Given the description of an element on the screen output the (x, y) to click on. 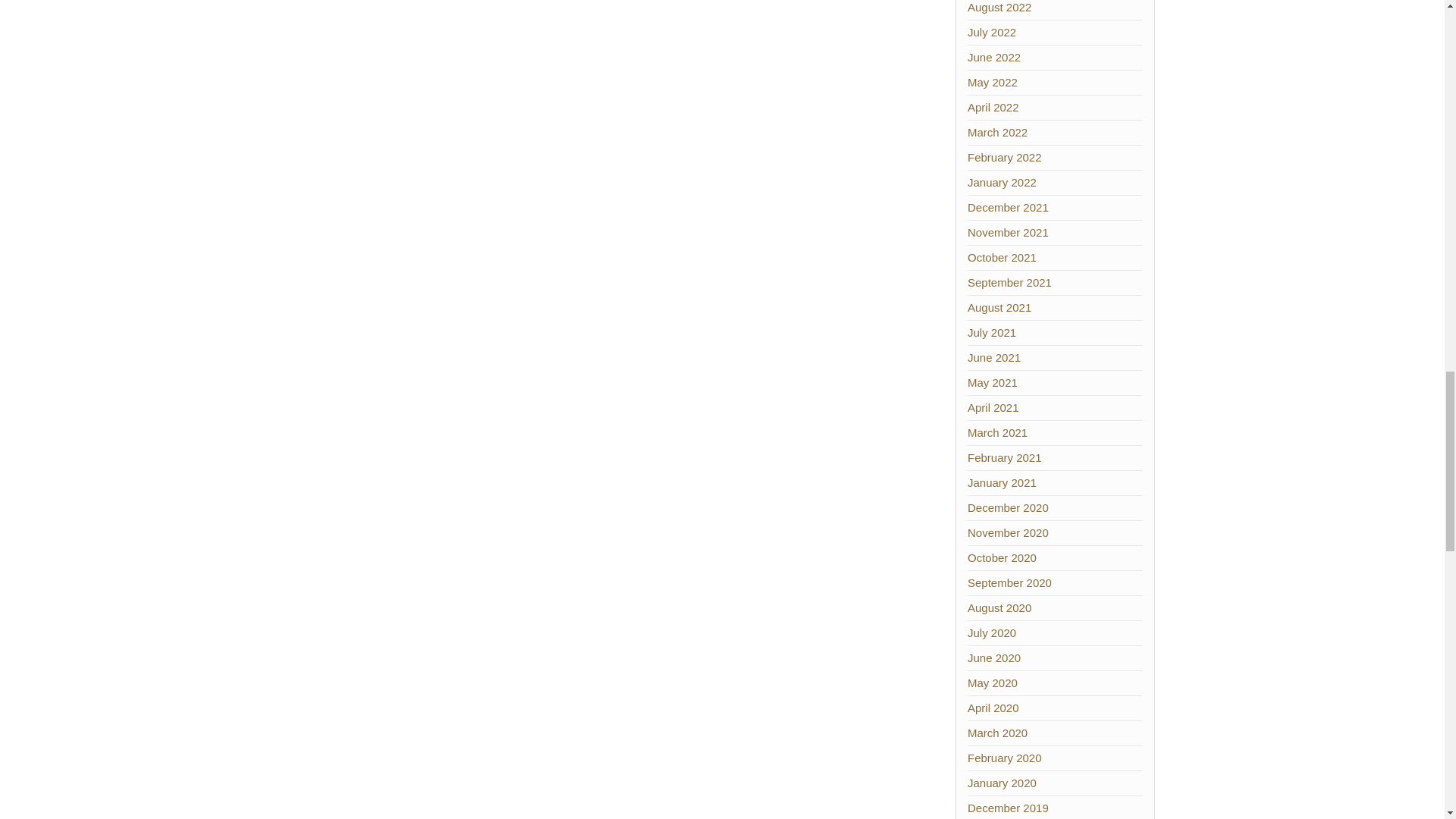
August 2022 (999, 6)
June 2022 (994, 56)
April 2022 (993, 106)
May 2022 (992, 82)
July 2022 (992, 31)
